Given the description of an element on the screen output the (x, y) to click on. 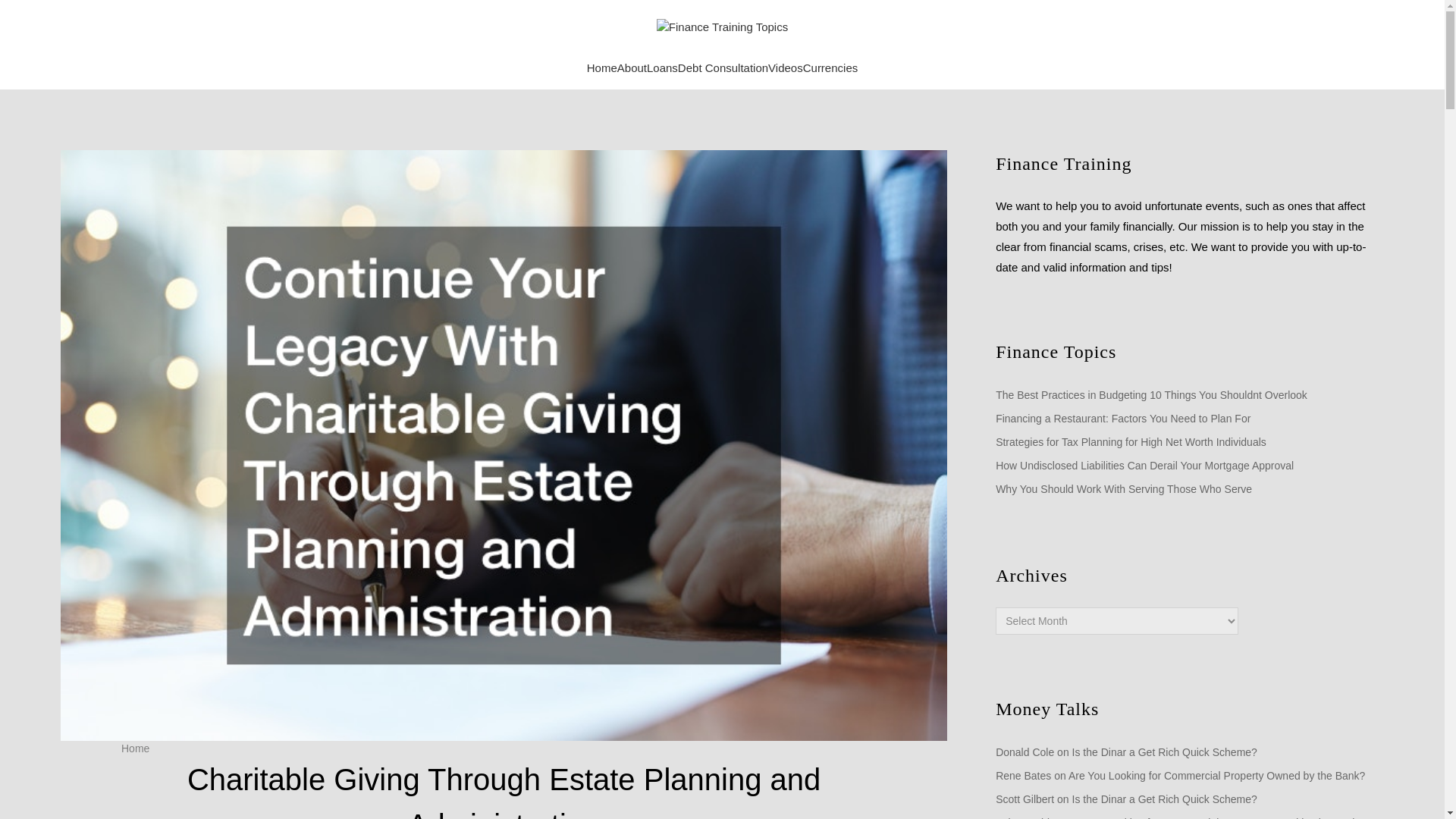
Strategies for Tax Planning for High Net Worth Individuals (1130, 442)
Rene Bates (1023, 775)
Debt Consultation (723, 67)
Home (601, 67)
Why You Should Work With Serving Those Who Serve (1123, 489)
Is the Dinar a Get Rich Quick Scheme? (1164, 752)
Currencies (831, 67)
Home (134, 748)
Financing a Restaurant: Factors You Need to Plan For (1122, 418)
About (631, 67)
